Given the description of an element on the screen output the (x, y) to click on. 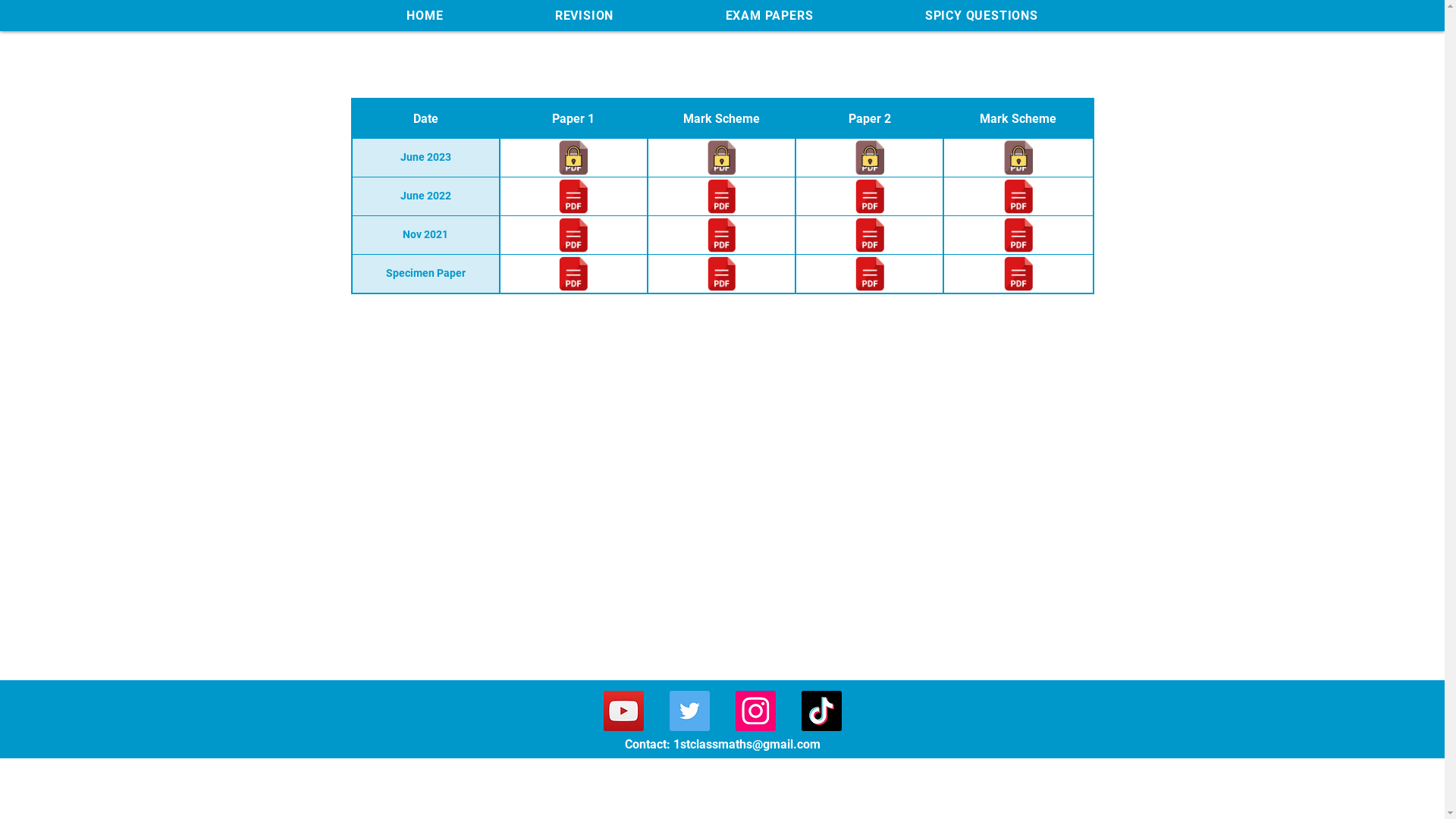
SPICY QUESTIONS Element type: text (981, 15)
HOME Element type: text (424, 15)
1stclassmaths@gmail.com Element type: text (746, 744)
